Given the description of an element on the screen output the (x, y) to click on. 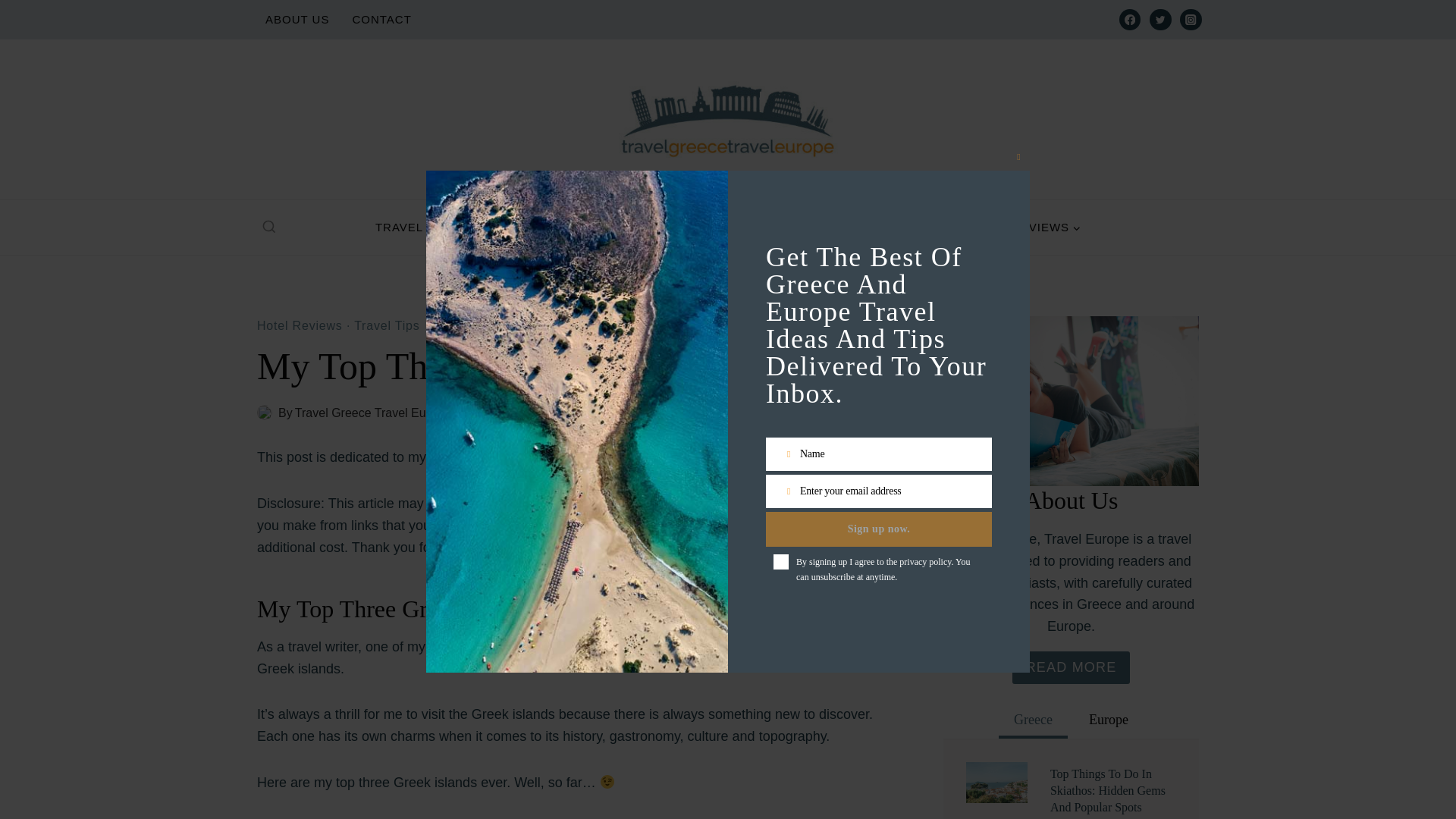
ABOUT US (296, 20)
CONTACT (381, 20)
TRAVEL GREECE (432, 227)
0 Comments (604, 413)
THE GREEK ISLANDS (587, 227)
